Given the description of an element on the screen output the (x, y) to click on. 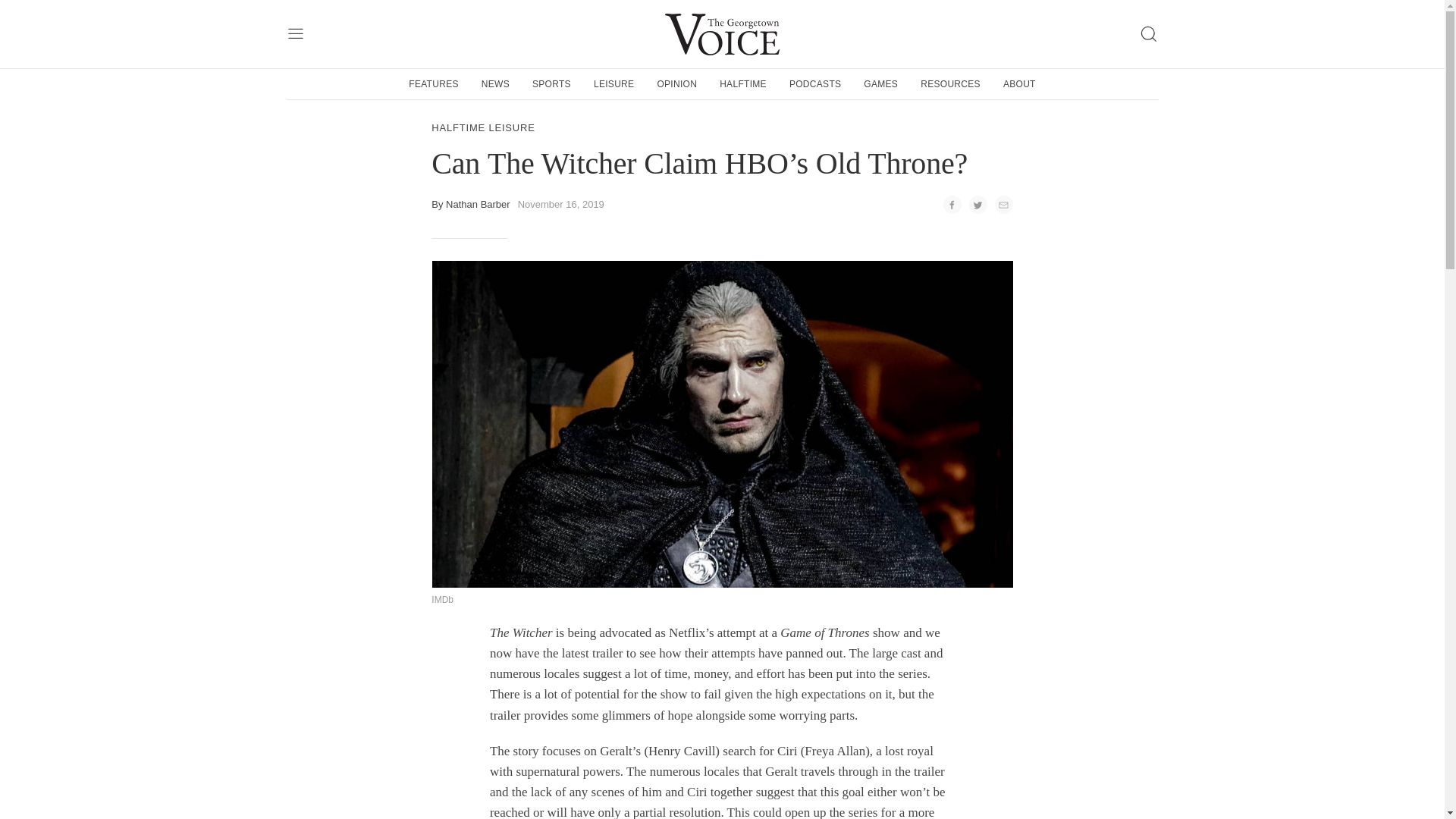
Posts by Nathan Barber (478, 204)
